Given the description of an element on the screen output the (x, y) to click on. 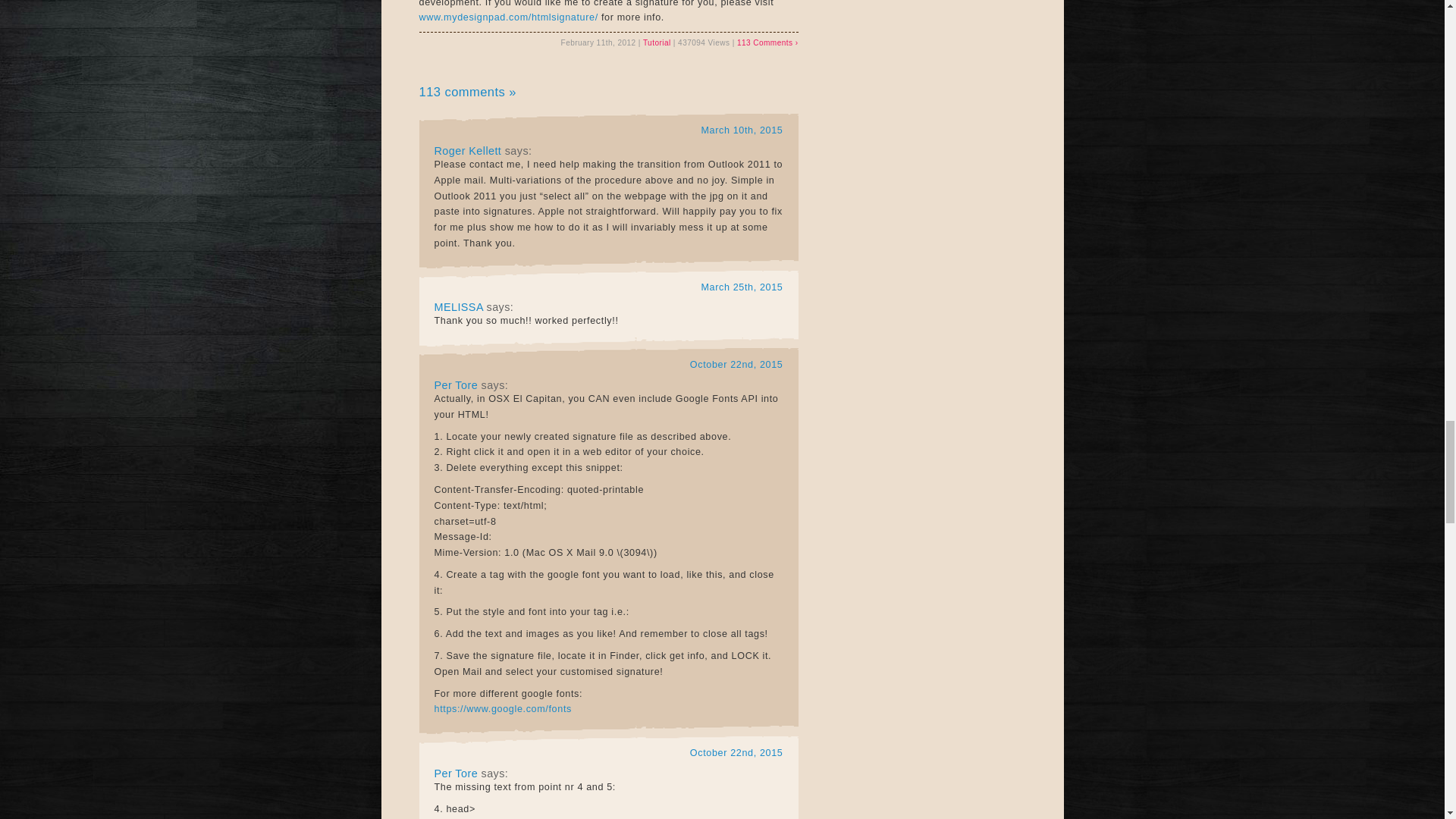
March 25th, 2015 (741, 287)
MELISSA (458, 306)
Per Tore (455, 385)
Roger Kellett (466, 150)
October 22nd, 2015 (736, 365)
Per Tore (455, 773)
Tutorial (657, 42)
October 22nd, 2015 (736, 753)
March 10th, 2015 (741, 130)
